Given the description of an element on the screen output the (x, y) to click on. 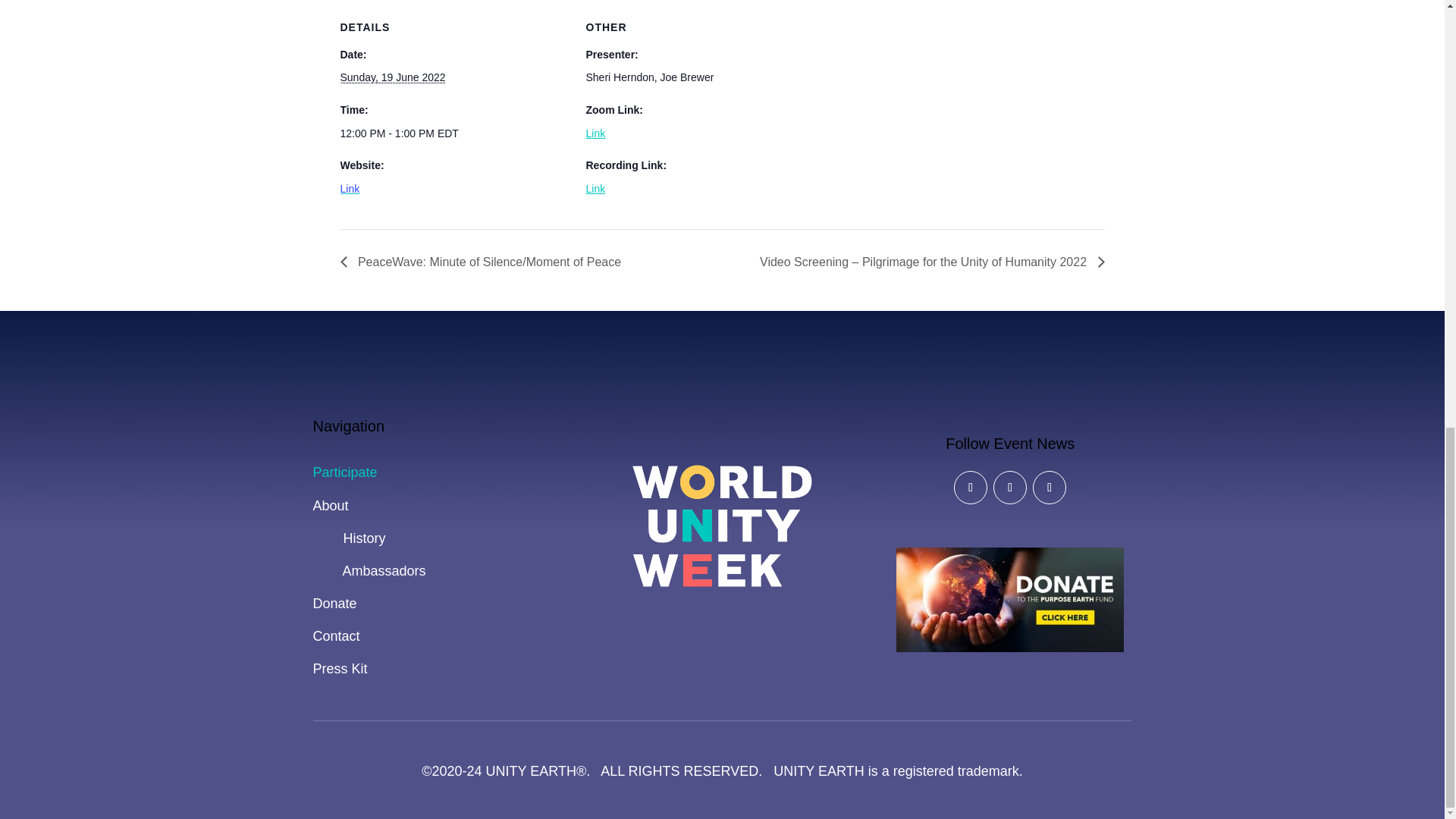
Contact (336, 635)
Press Kit (339, 668)
Link (595, 133)
Follow on Youtube (1048, 487)
Link (349, 188)
Follow on Twitter (1009, 487)
        History (349, 538)
Participate (345, 472)
About (330, 505)
2022-06-19 (453, 133)
